Given the description of an element on the screen output the (x, y) to click on. 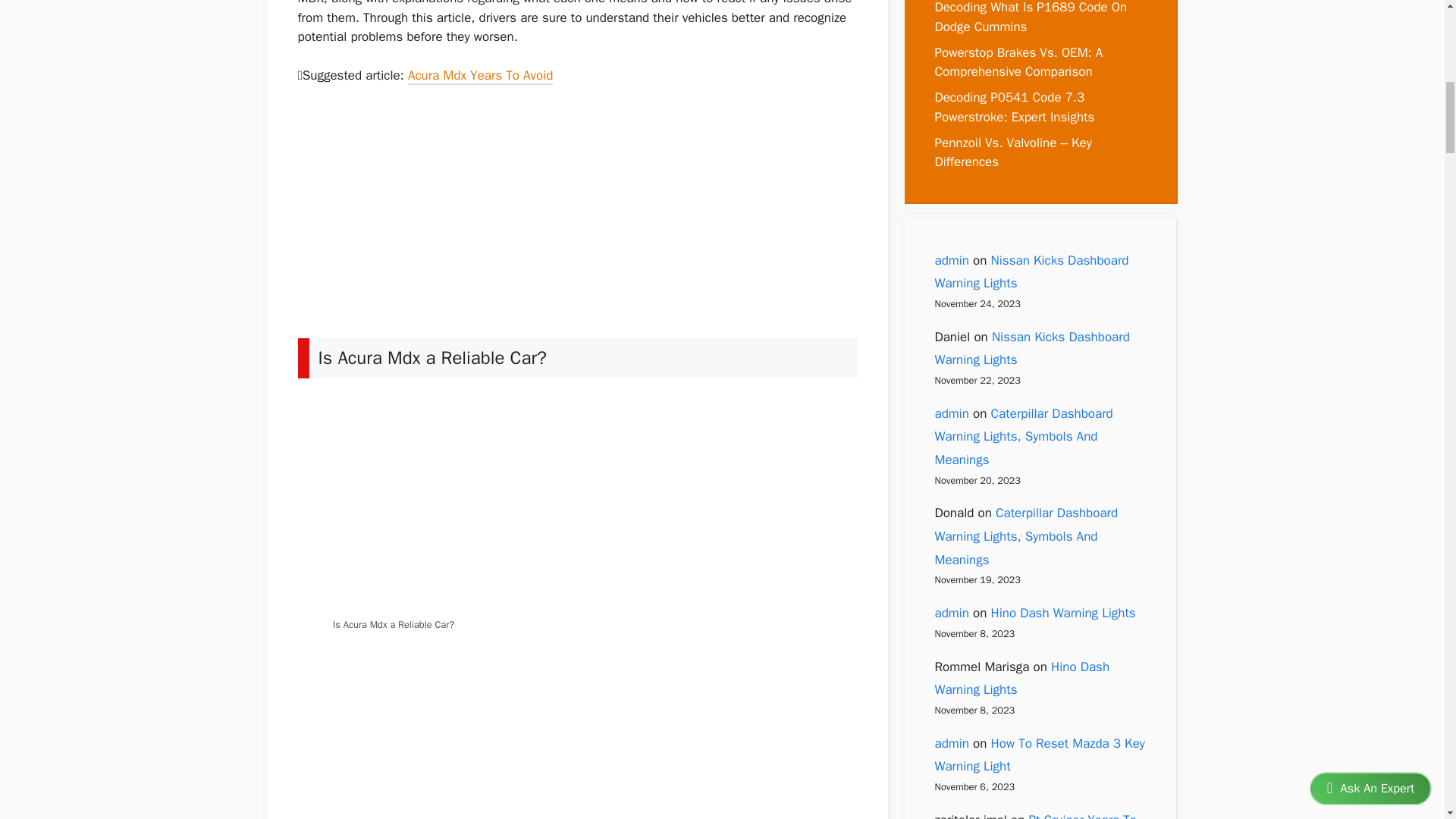
Acura Mdx Dashboard Warning Lights And Symbols 2 (577, 503)
Acura Mdx Years To Avoid (480, 76)
